Given the description of an element on the screen output the (x, y) to click on. 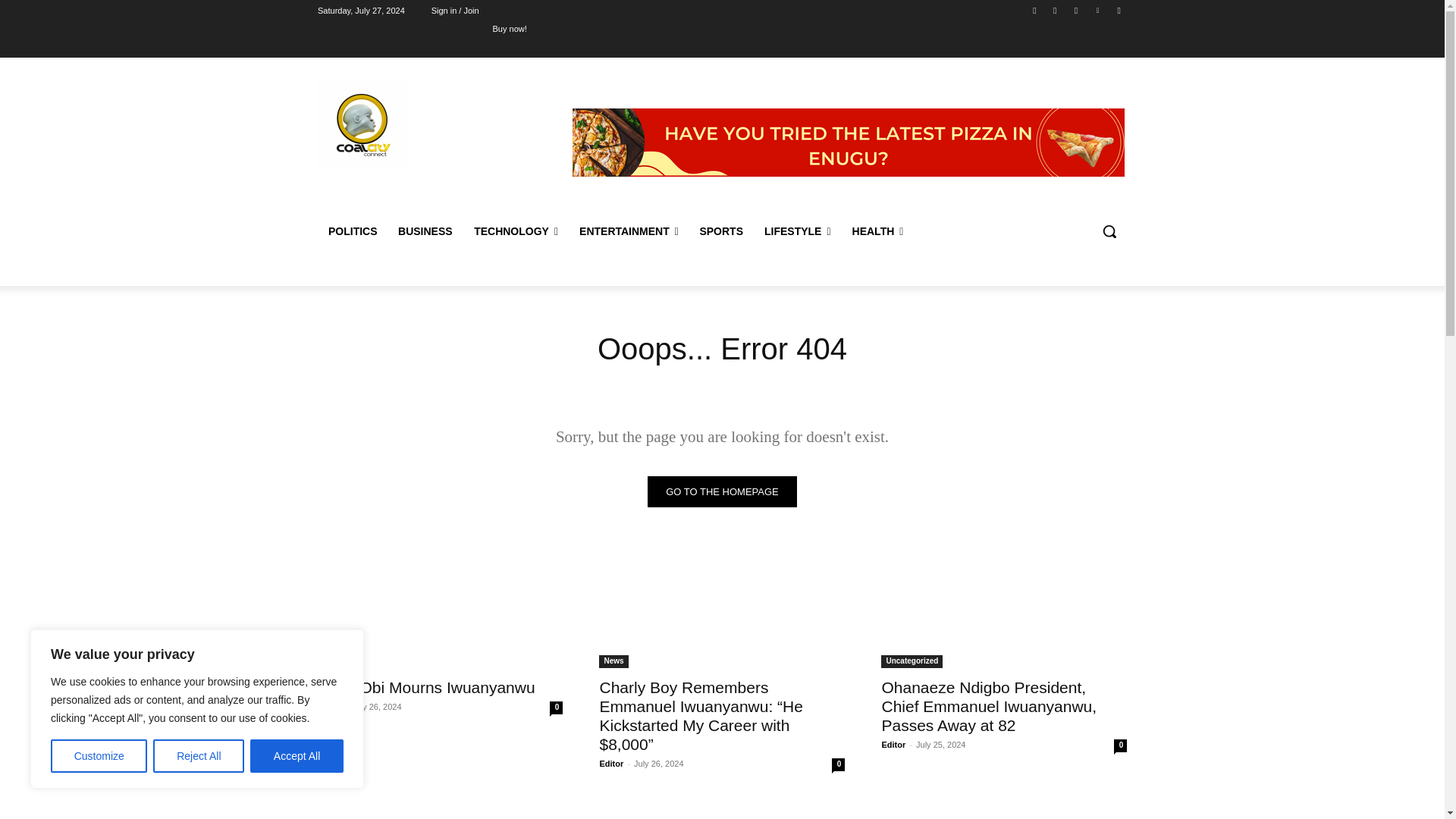
Accept All (296, 756)
Customize (98, 756)
Vimeo (1097, 9)
Twitter (1075, 9)
Buy now! (510, 28)
TECHNOLOGY (516, 230)
Youtube (1117, 9)
Instagram (1055, 9)
BUSINESS (425, 230)
Facebook (1034, 9)
POLITICS (352, 230)
Reject All (198, 756)
